Given the description of an element on the screen output the (x, y) to click on. 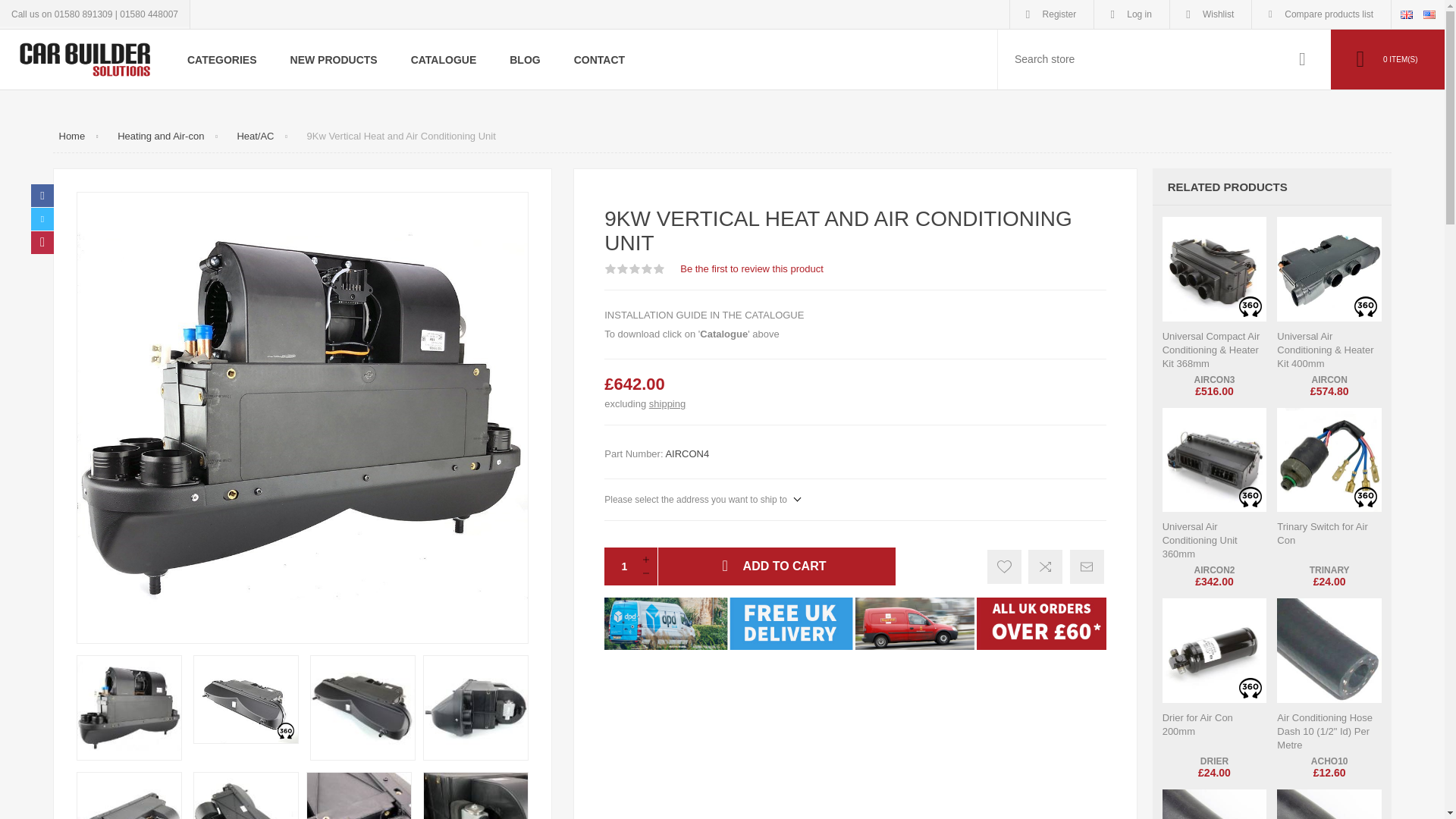
Log in (1131, 14)
1 (619, 566)
United States (1429, 14)
Register (1052, 14)
English (1406, 14)
Wishlist (1210, 14)
United States (1429, 14)
Compare products list (1321, 14)
English (1406, 14)
